Given the description of an element on the screen output the (x, y) to click on. 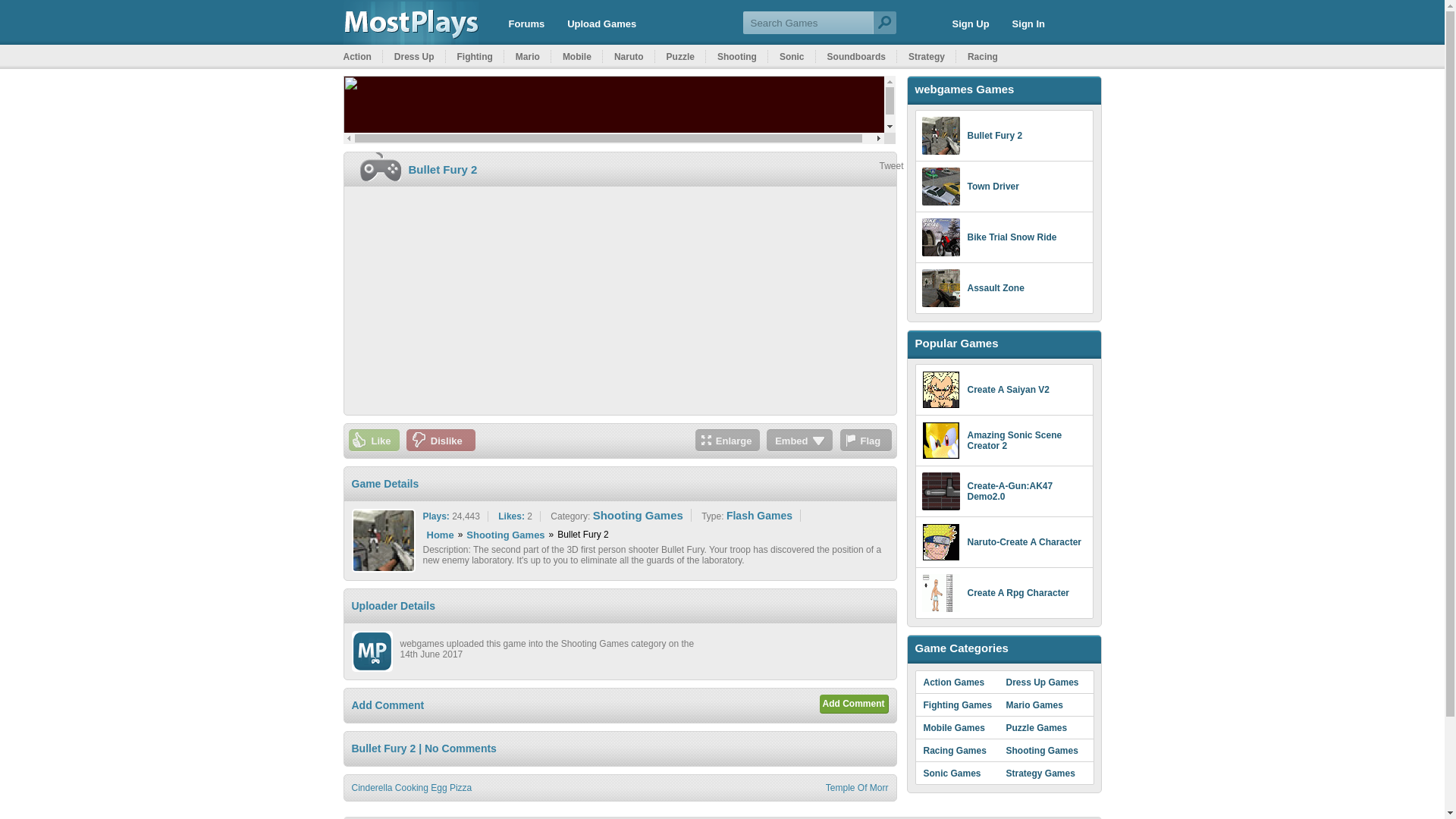
Embed (799, 440)
Puzzle (686, 56)
Sonic (796, 56)
Mario (533, 56)
Bullet Fury 2 (442, 169)
Action (361, 56)
Soundboards (861, 56)
Naruto (634, 56)
Upload Games (601, 23)
Enlarge (727, 440)
